Given the description of an element on the screen output the (x, y) to click on. 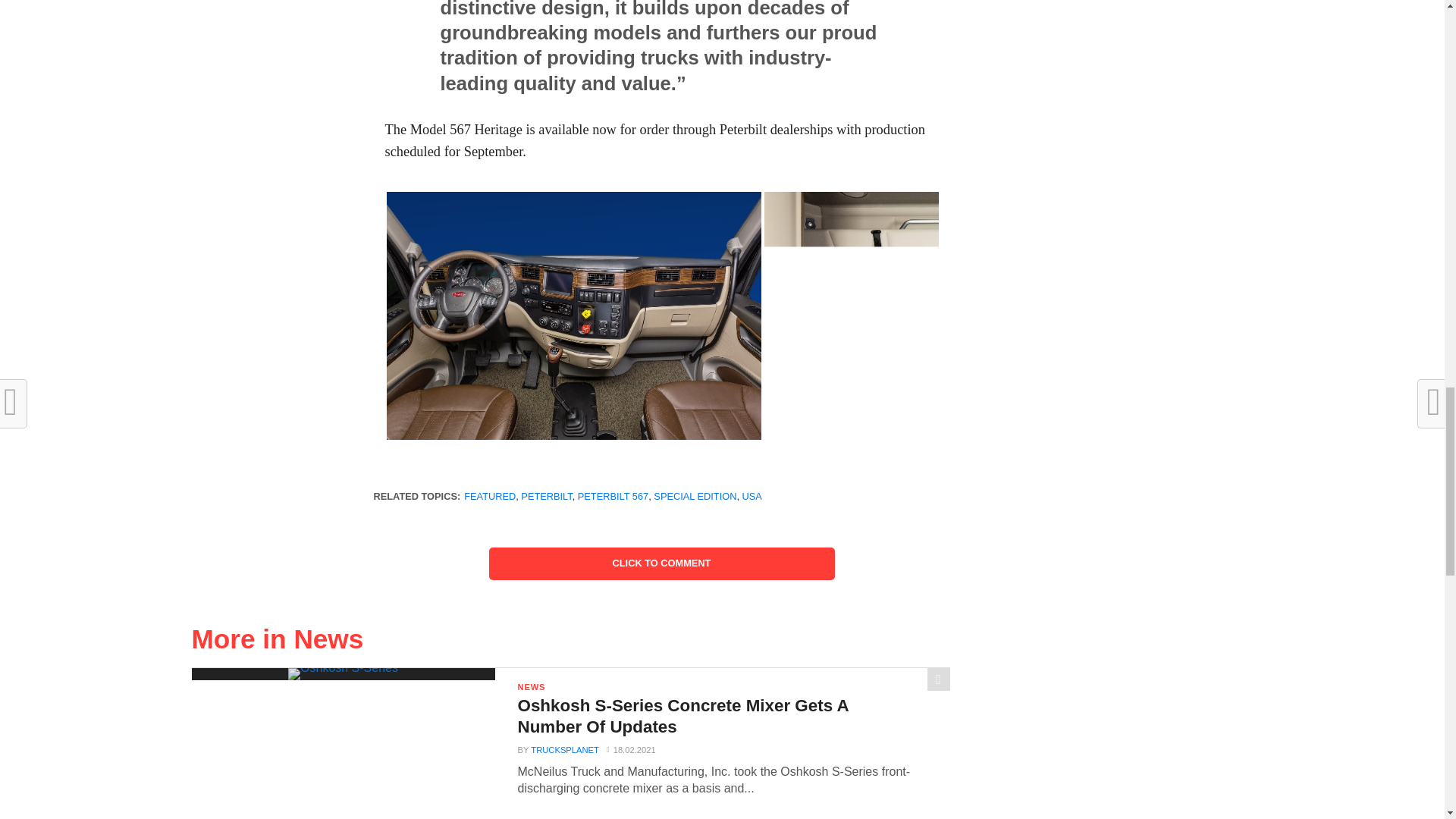
PETERBILT 567 (612, 496)
PETERBILT (546, 496)
1623 (951, 316)
1622 (574, 316)
SPECIAL EDITION (694, 496)
USA (751, 496)
Posts by Trucksplanet (564, 749)
FEATURED (489, 496)
TRUCKSPLANET (564, 749)
